Given the description of an element on the screen output the (x, y) to click on. 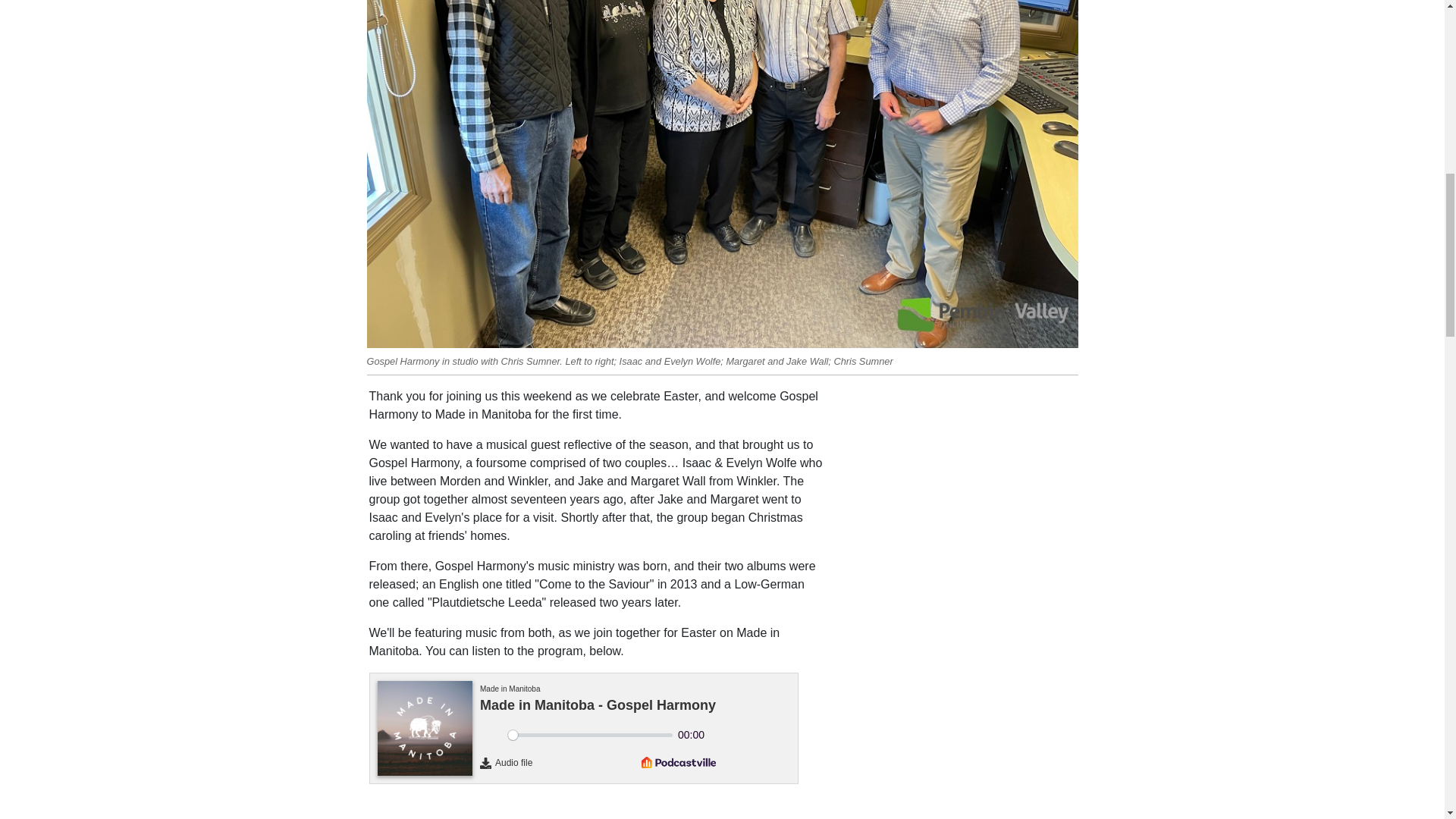
Podcastville.ca - Made in Manitoba - Gospel Harmony (596, 735)
3rd party ad content (961, 482)
3rd party ad content (961, 796)
